Given the description of an element on the screen output the (x, y) to click on. 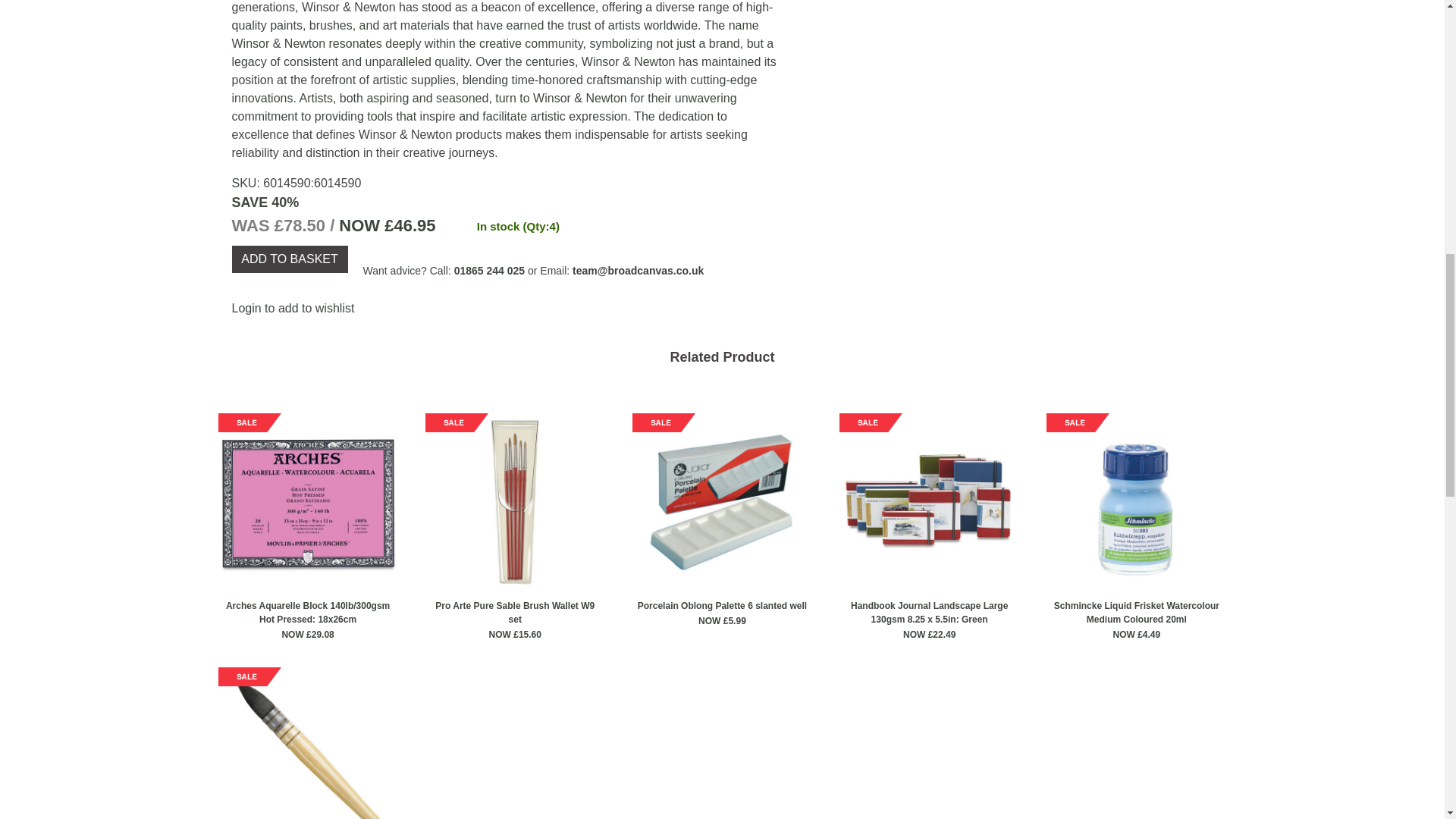
Porcelain Oblong Palette 6 slanted well (721, 502)
Pro Arte Pure Sable Brush Wallet W9 set (515, 502)
Handbook Journal Landscape Large 130gsm 8.25 x 5.5in: Green (929, 502)
Pro Arte Series RSQ Renaissance Squirrel Mop: No.6 (307, 743)
Schmincke Liquid Frisket Watercolour Medium Coloured 20ml (1135, 502)
